Given the description of an element on the screen output the (x, y) to click on. 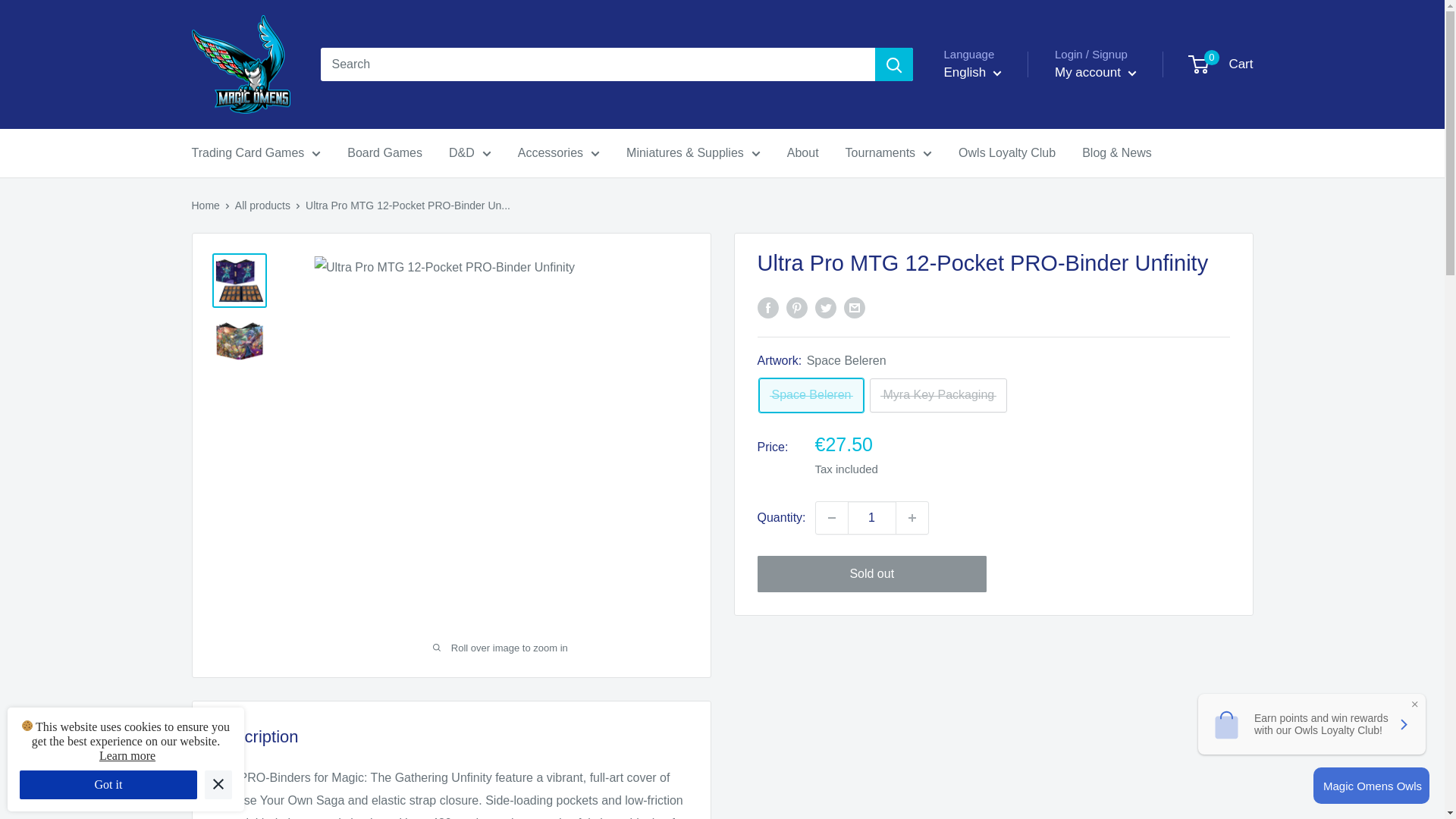
Increase quantity by 1 (912, 517)
Space Beleren (810, 395)
1 (871, 517)
LoyaltyLion beacon (1371, 785)
Decrease quantity by 1 (831, 517)
Myra Key Packaging (938, 395)
